Given the description of an element on the screen output the (x, y) to click on. 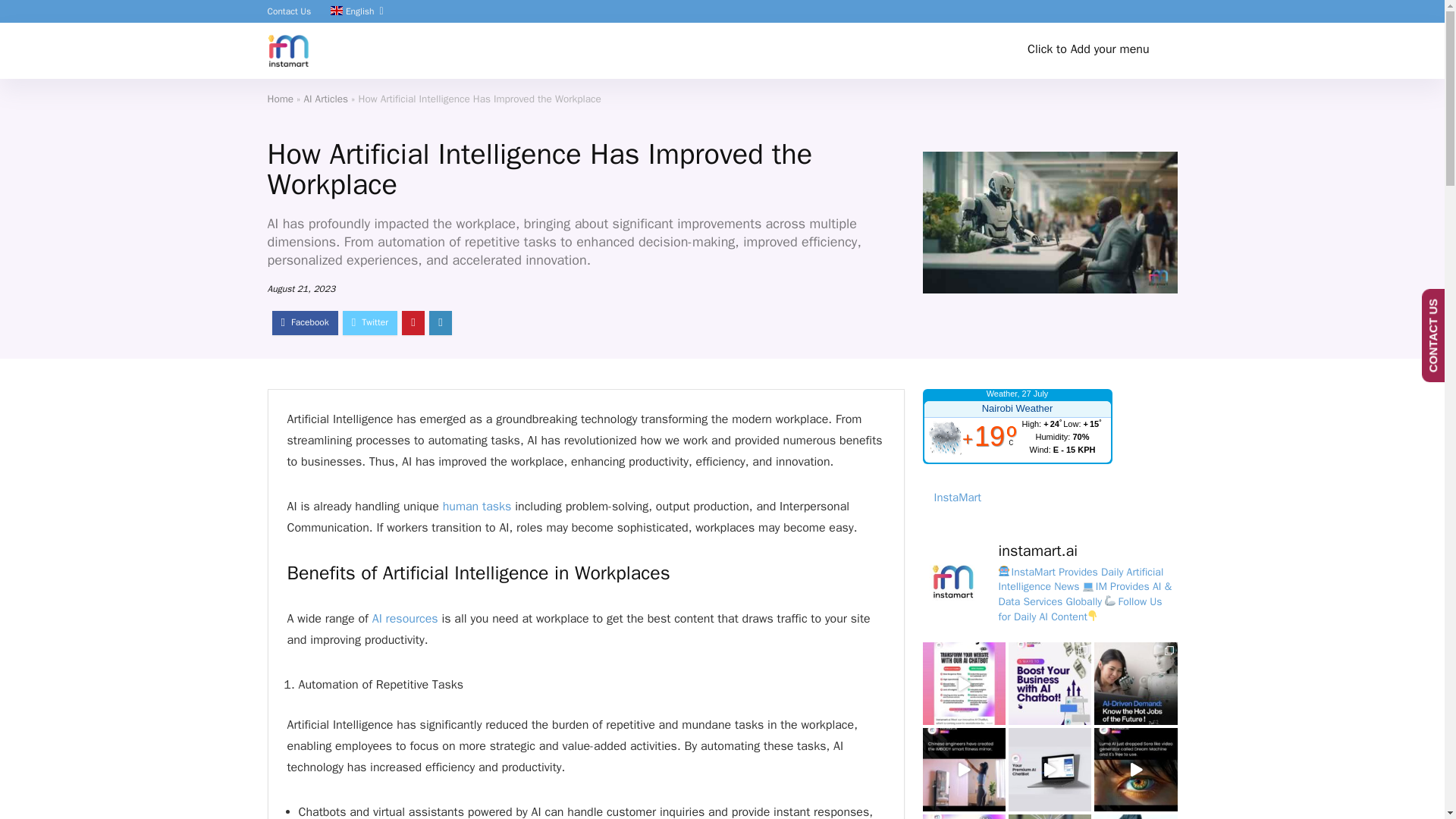
human tasks (477, 506)
English (352, 10)
AI Articles (326, 98)
Home (280, 98)
Nairobi Weather (1016, 409)
AI resources (405, 618)
Click to Add your menu (1087, 50)
InstaMart (957, 497)
Contact Us (288, 10)
